Given the description of an element on the screen output the (x, y) to click on. 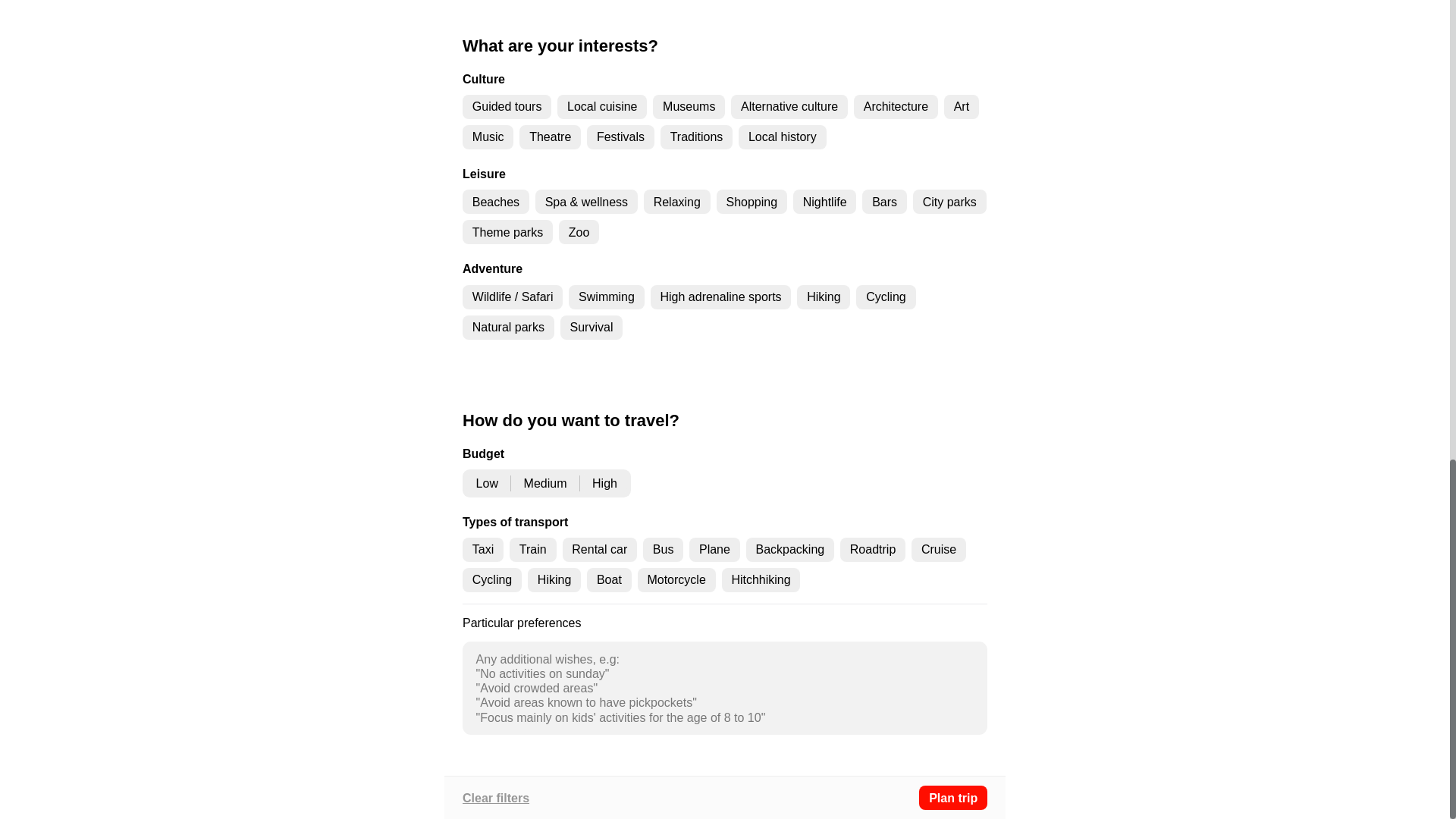
Plan trip (952, 797)
Clear filters (496, 798)
